Given the description of an element on the screen output the (x, y) to click on. 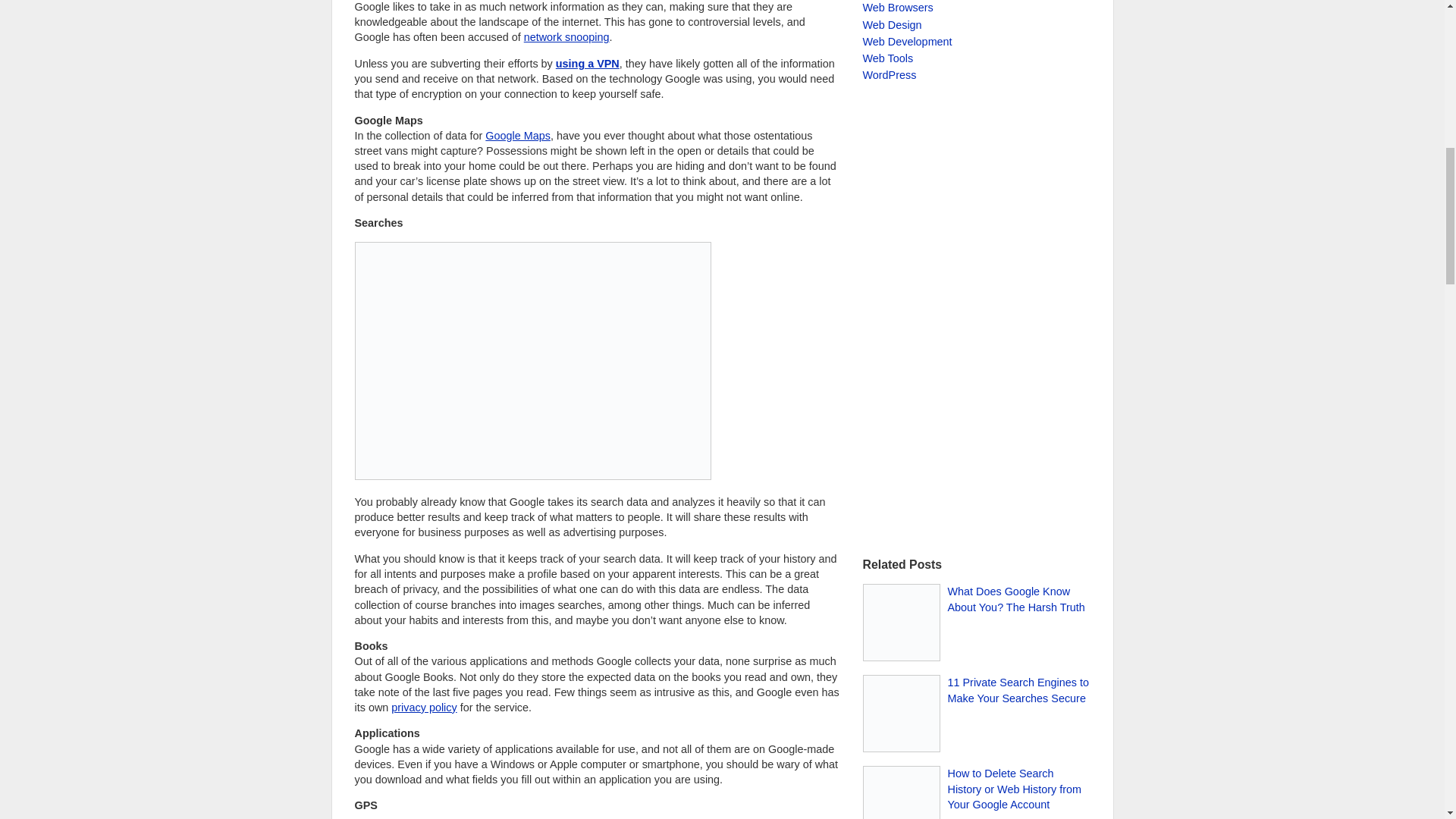
Google Maps (517, 135)
privacy policy (424, 707)
using a VPN (588, 63)
network snooping (567, 37)
